Given the description of an element on the screen output the (x, y) to click on. 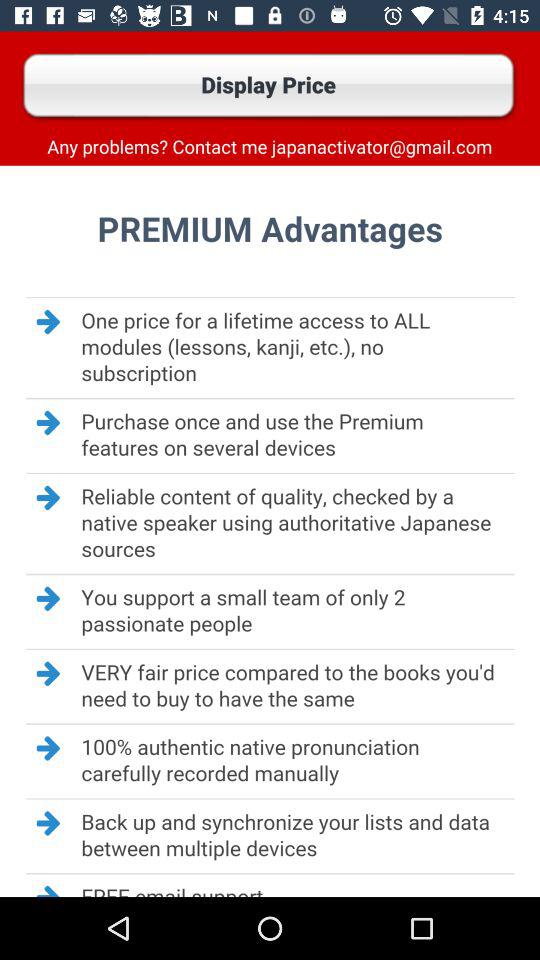
go to advantage page (270, 531)
